Given the description of an element on the screen output the (x, y) to click on. 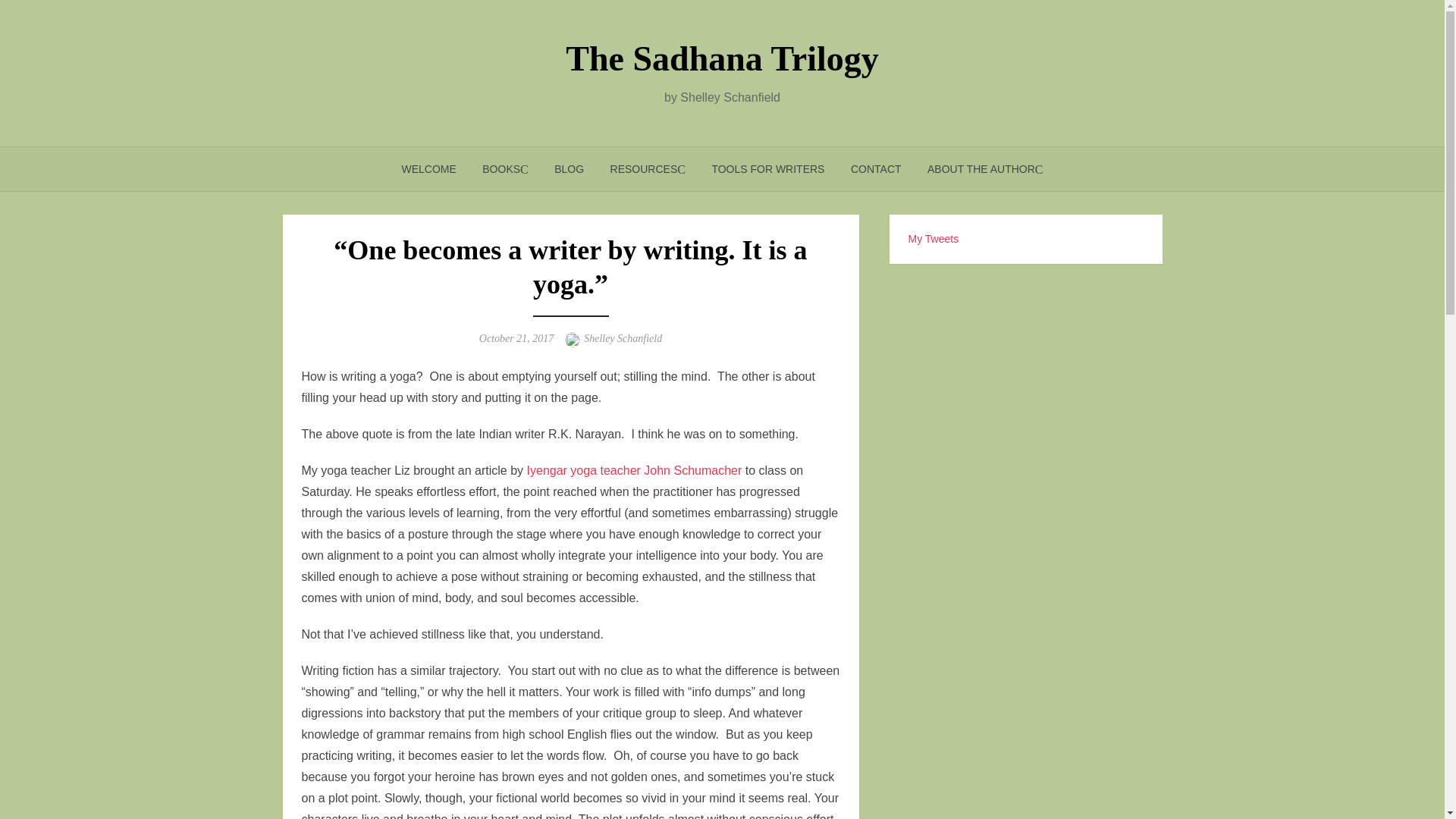
BOOKS (504, 168)
TOOLS FOR WRITERS (767, 168)
RESOURCES (647, 168)
BLOG (569, 168)
Iyengar yoga teacher John Schumacher (634, 470)
ABOUT THE AUTHOR (984, 168)
The Sadhana Trilogy (721, 58)
WELCOME (428, 168)
CONTACT (876, 168)
Shelley Schanfield (622, 337)
